Given the description of an element on the screen output the (x, y) to click on. 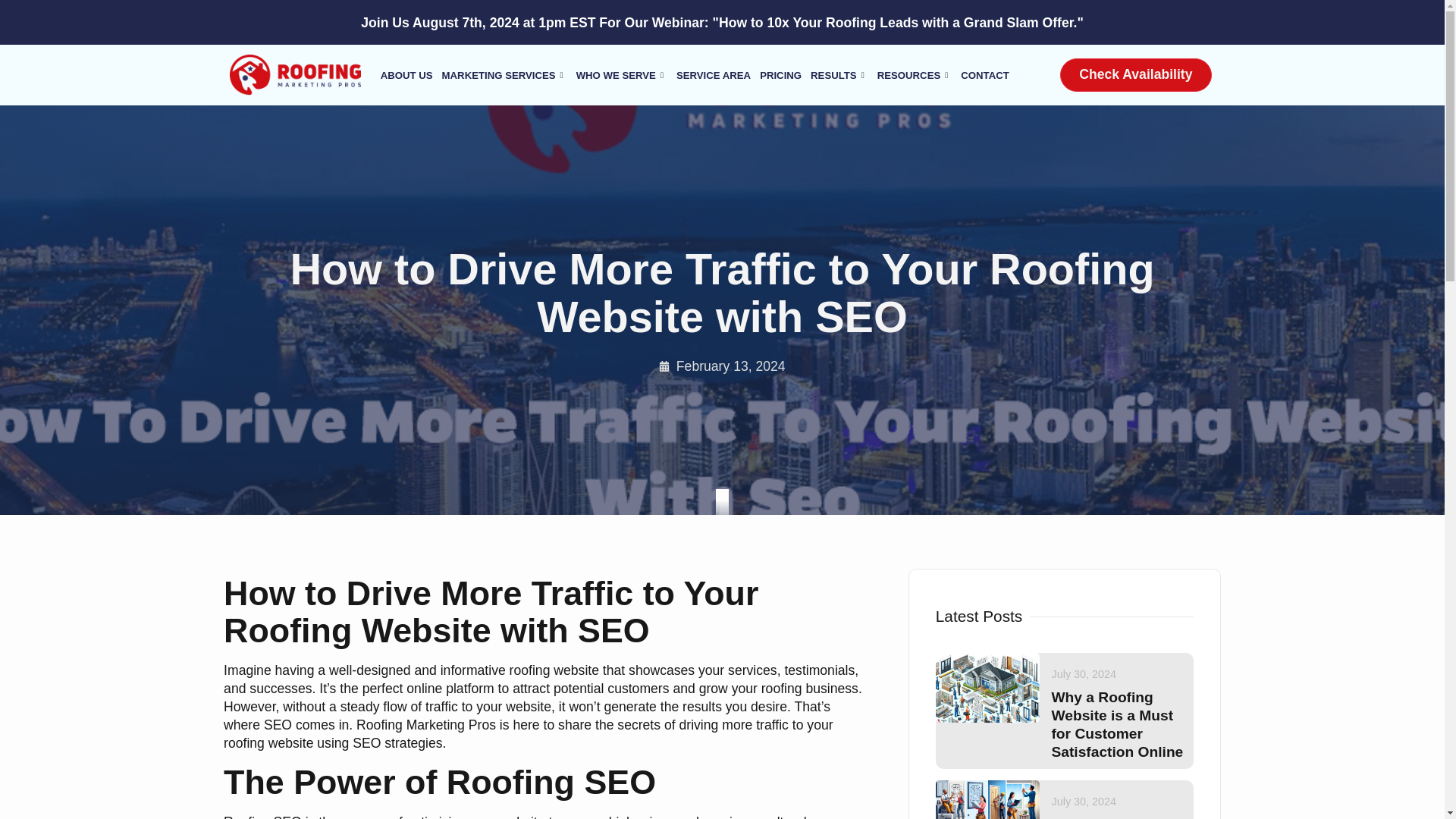
RESULTS (839, 75)
CONTACT (984, 75)
WHO WE SERVE (621, 75)
RESOURCES (914, 75)
Check Availability (1135, 74)
SERVICE AREA (713, 75)
MARKETING SERVICES (505, 75)
ABOUT US (406, 75)
